Given the description of an element on the screen output the (x, y) to click on. 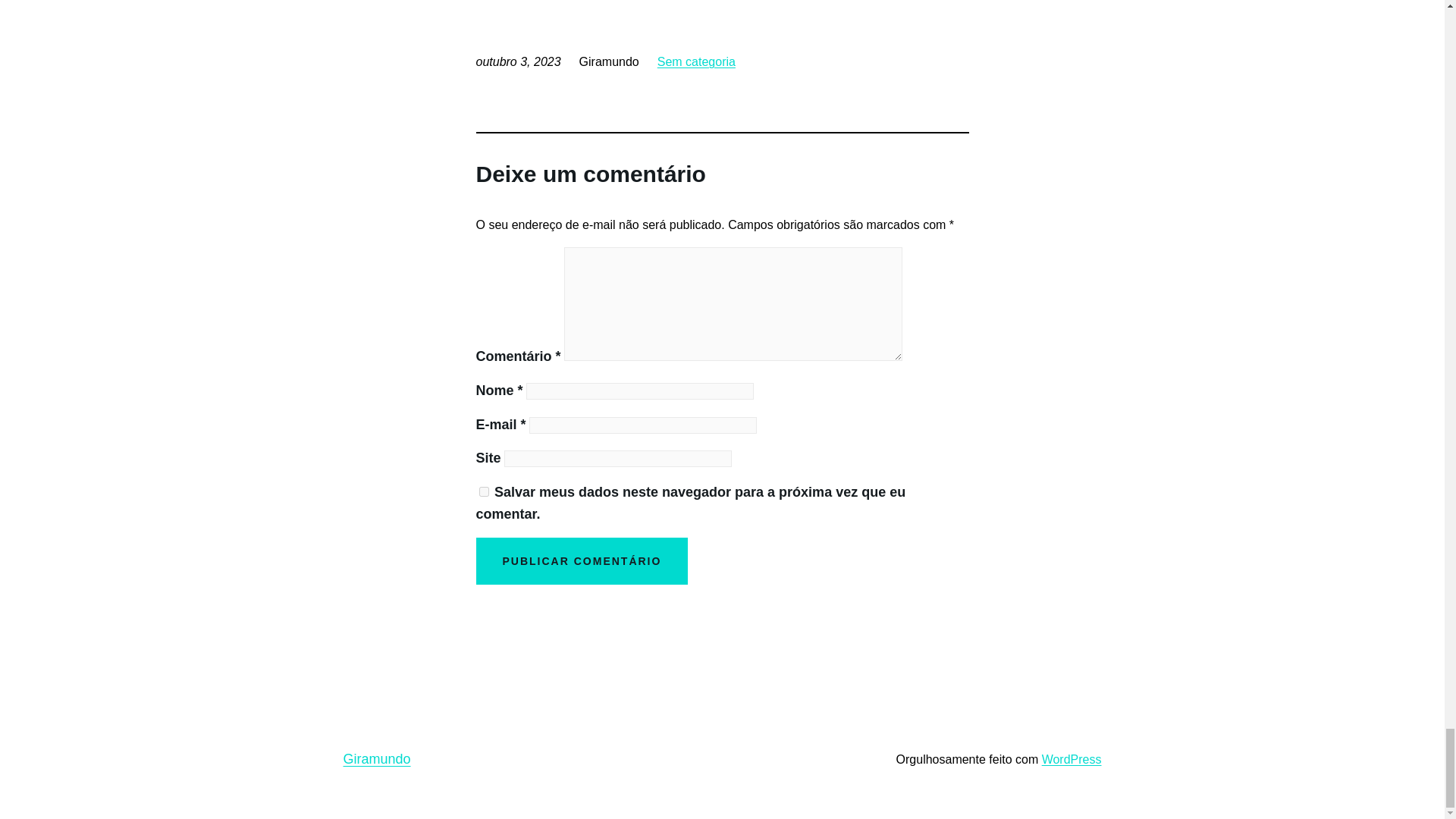
Giramundo (376, 758)
yes (484, 491)
WordPress (1072, 758)
Sem categoria (696, 61)
